Given the description of an element on the screen output the (x, y) to click on. 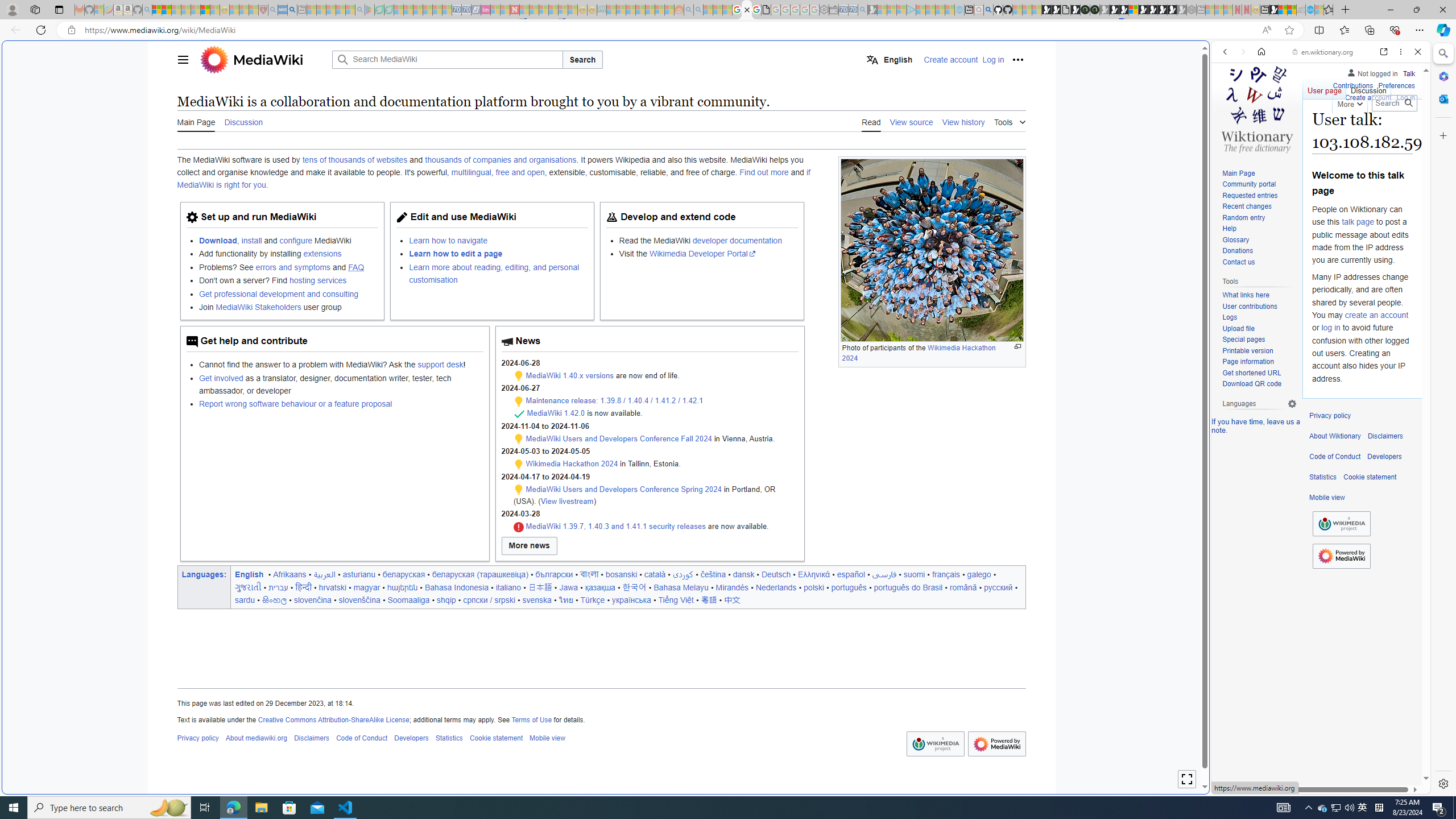
Upload file (1238, 328)
Wikimedia Foundation (1341, 523)
Download, install and configure MediaWiki (288, 239)
Statistics (1322, 477)
Get professional development and consulting (288, 293)
Create account (1367, 96)
